Given the description of an element on the screen output the (x, y) to click on. 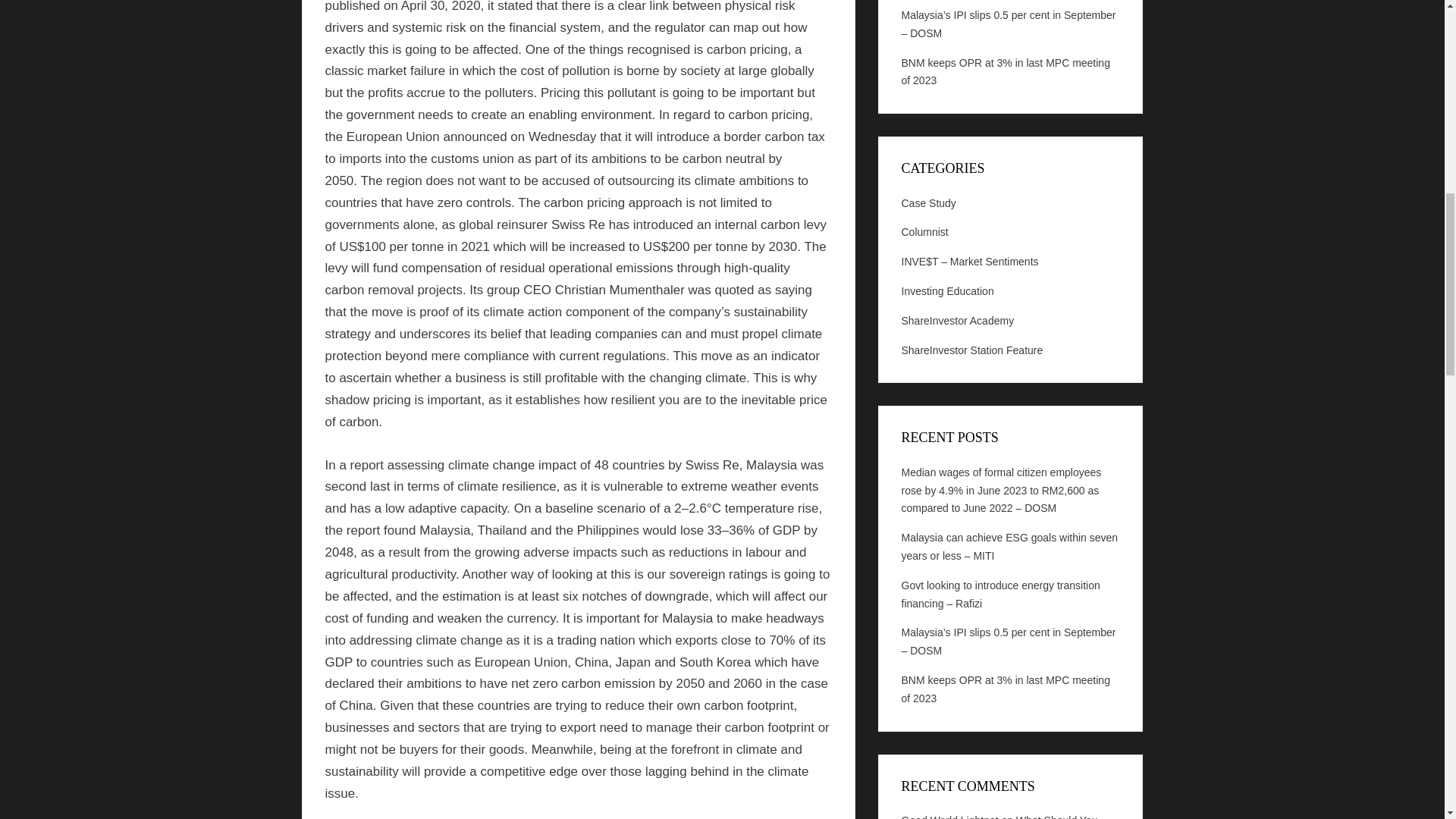
ShareInvestor Station Feature (971, 349)
ShareInvestor Academy (957, 320)
Good World Lightnet (949, 816)
Investing Education (946, 291)
Columnist (924, 232)
Case Study (928, 203)
